Given the description of an element on the screen output the (x, y) to click on. 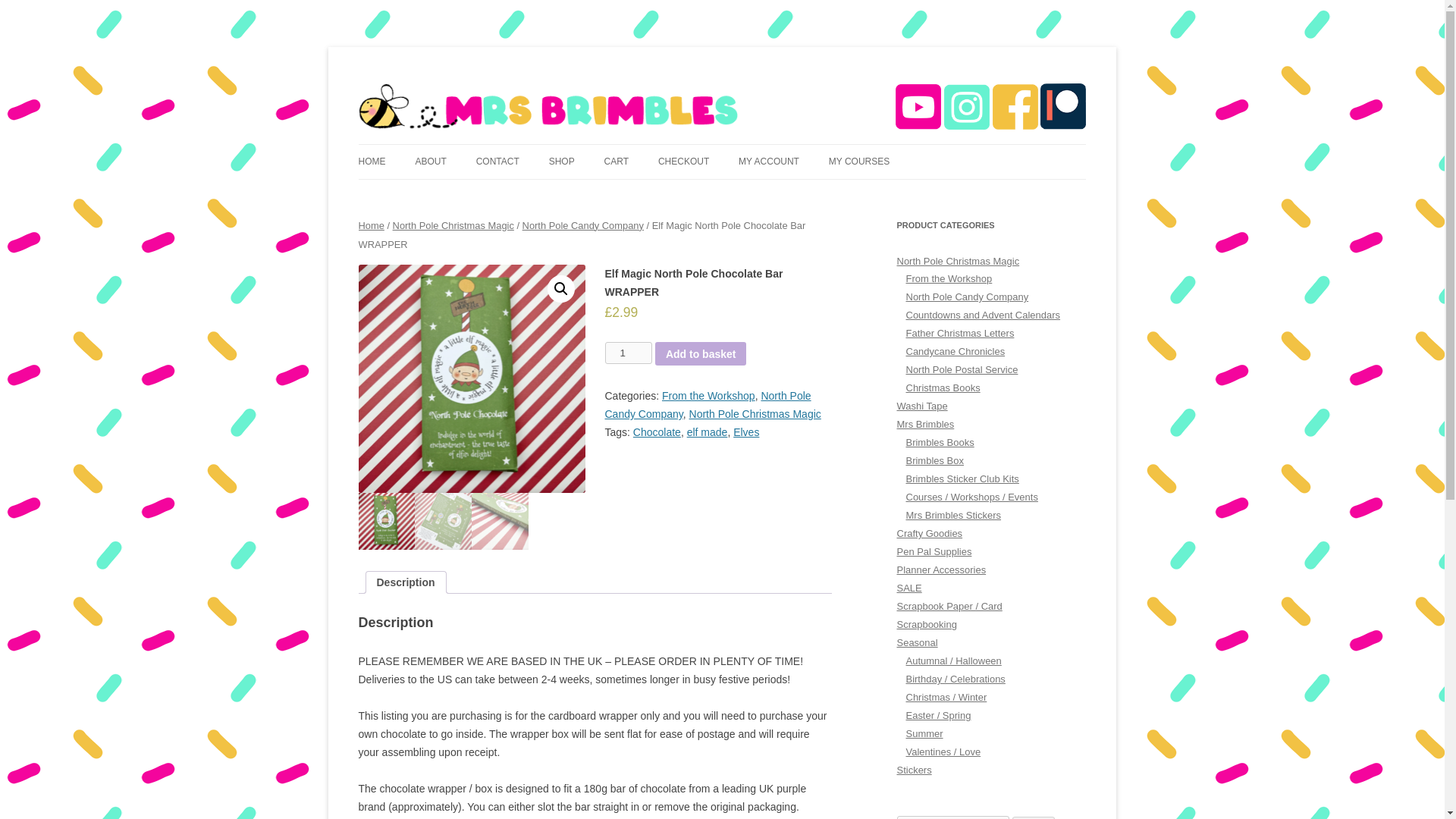
ABOUT (429, 161)
North Pole Christmas Magic (453, 225)
North Pole Candy Company (707, 404)
MY COURSES (858, 161)
CONTACT (497, 161)
Chocolate (657, 431)
Description (404, 581)
Screenshot 2023-10-02 at 14.26.18 (698, 378)
